Given the description of an element on the screen output the (x, y) to click on. 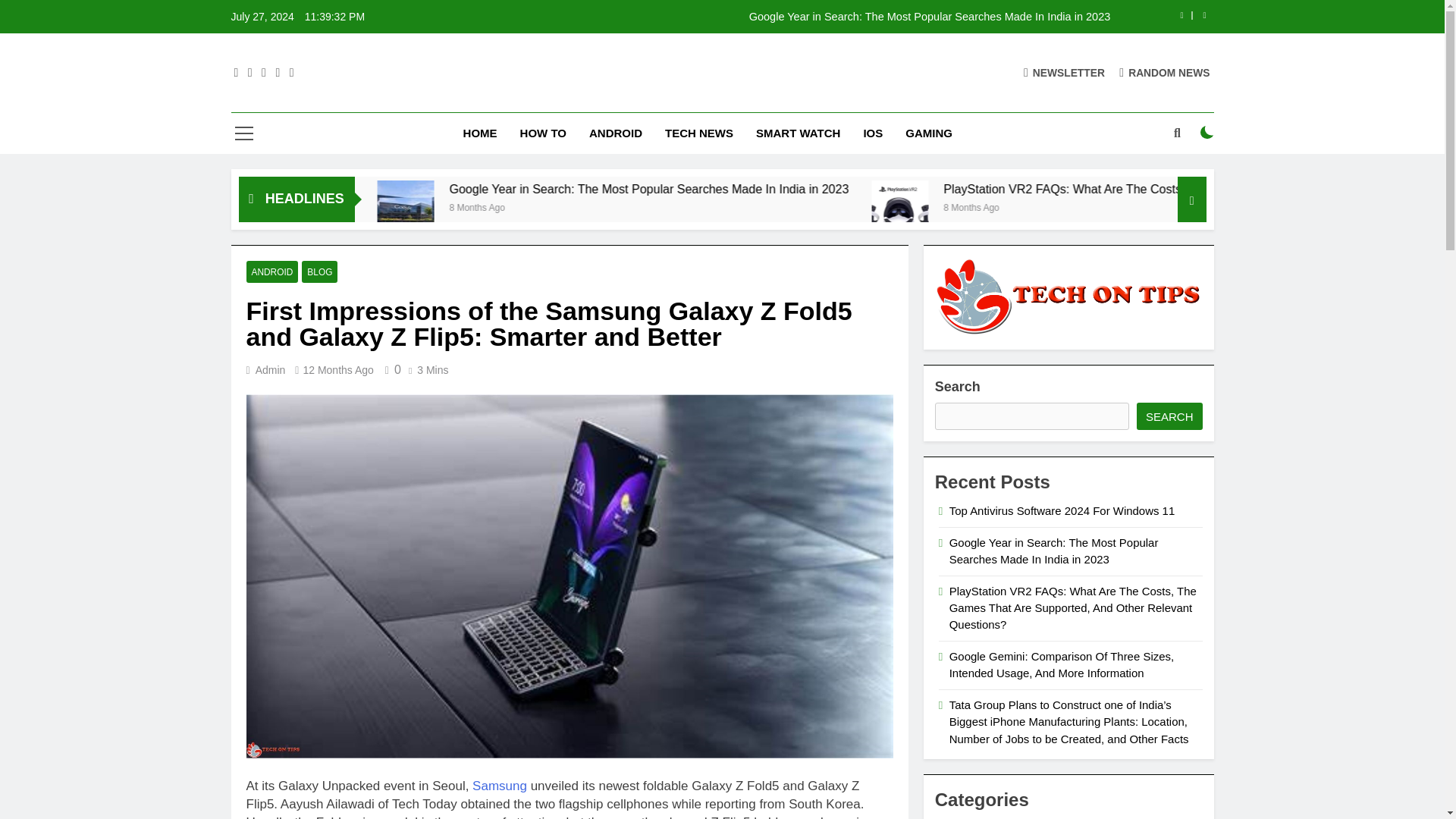
NEWSLETTER (1064, 72)
SMART WATCH (797, 133)
TECH NEWS (698, 133)
8 Months Ago (694, 205)
HOME (479, 133)
RANDOM NEWS (1164, 72)
TECH ON TIPS (600, 89)
HOW TO (543, 133)
8 Months Ago (1179, 205)
